Given the description of an element on the screen output the (x, y) to click on. 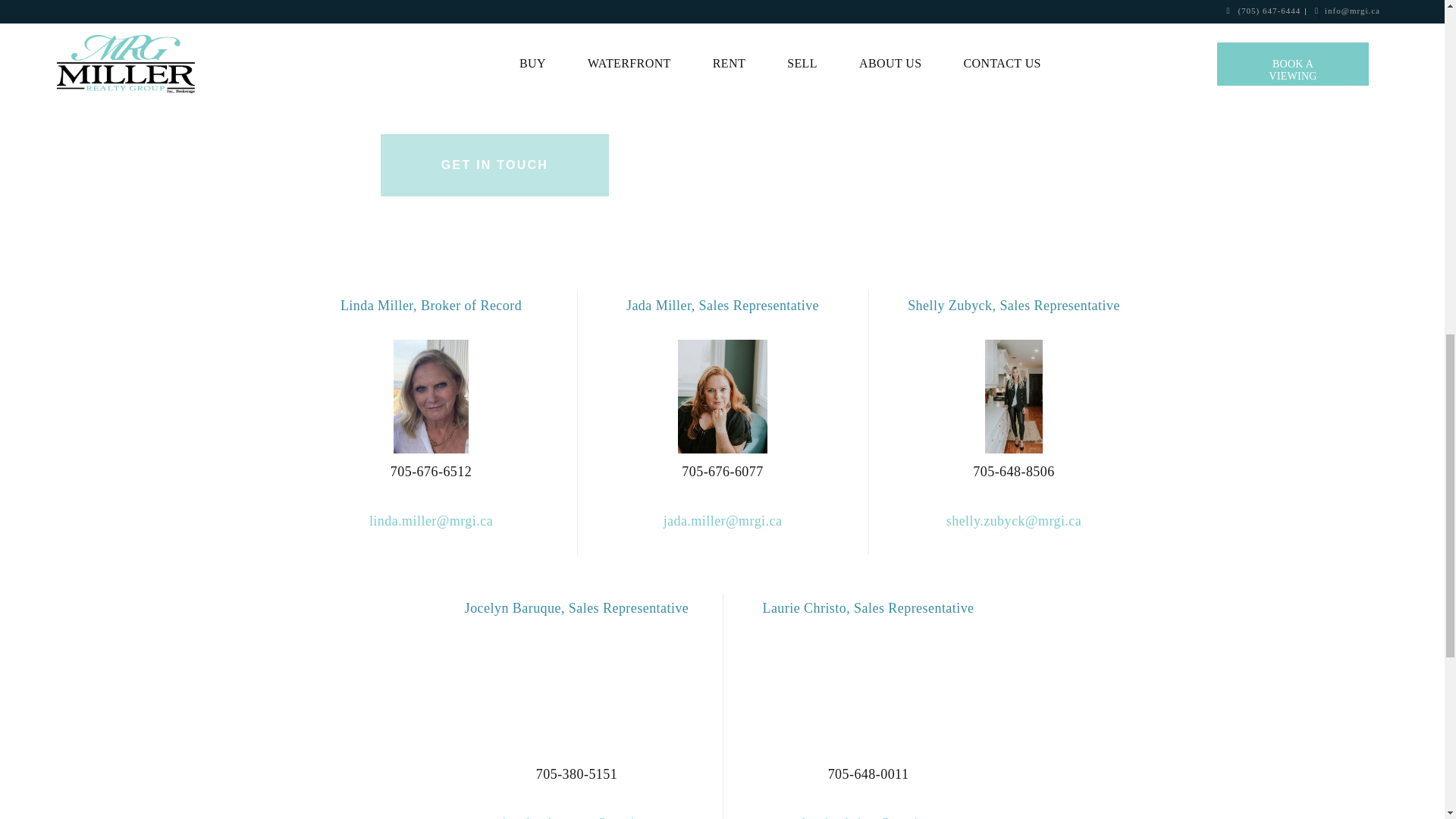
GET IN TOUCH (494, 165)
